Given the description of an element on the screen output the (x, y) to click on. 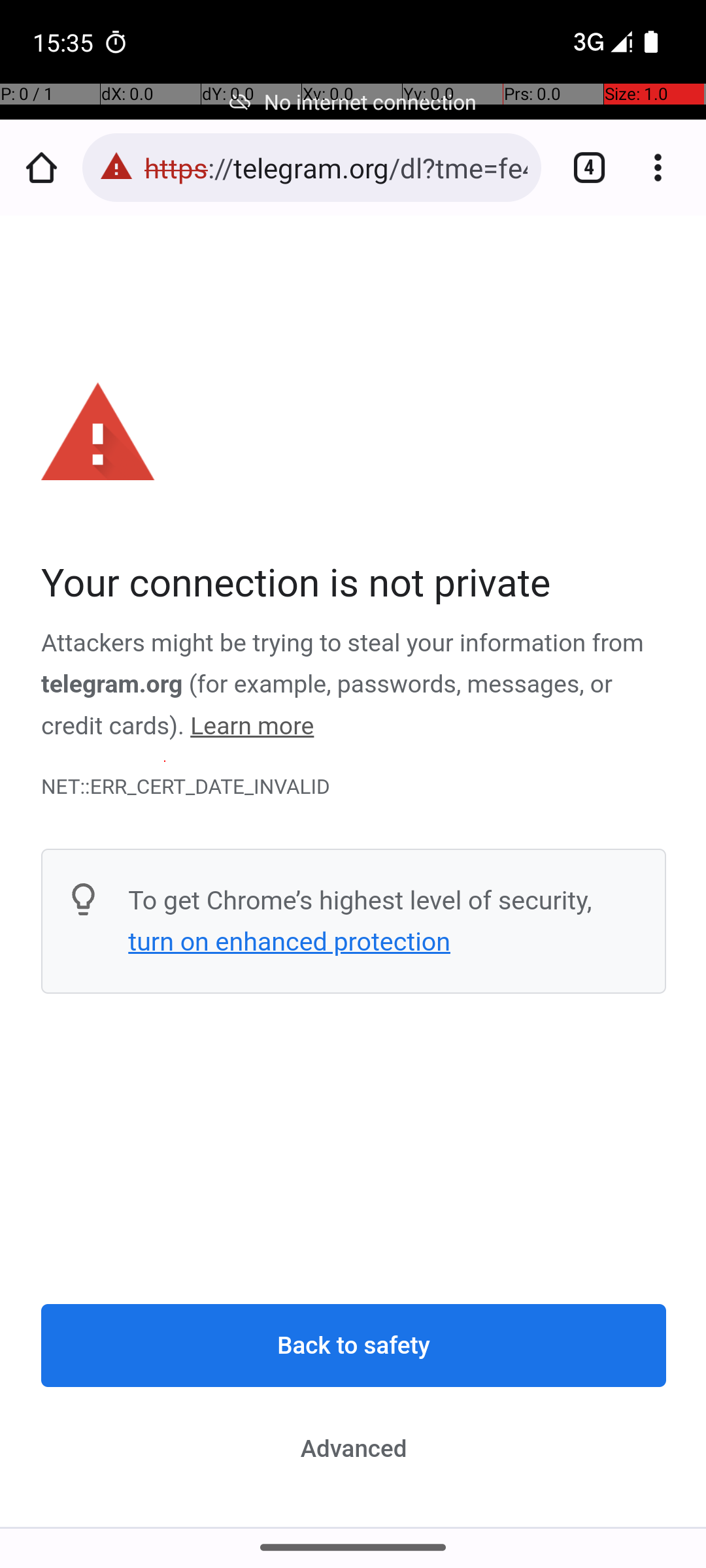
https://telegram.org/dl?tme=fe47b73173689e6e6a_7623181040532428218 Element type: android.widget.EditText (335, 167)
telegram.org Element type: android.widget.TextView (112, 684)
